Given the description of an element on the screen output the (x, y) to click on. 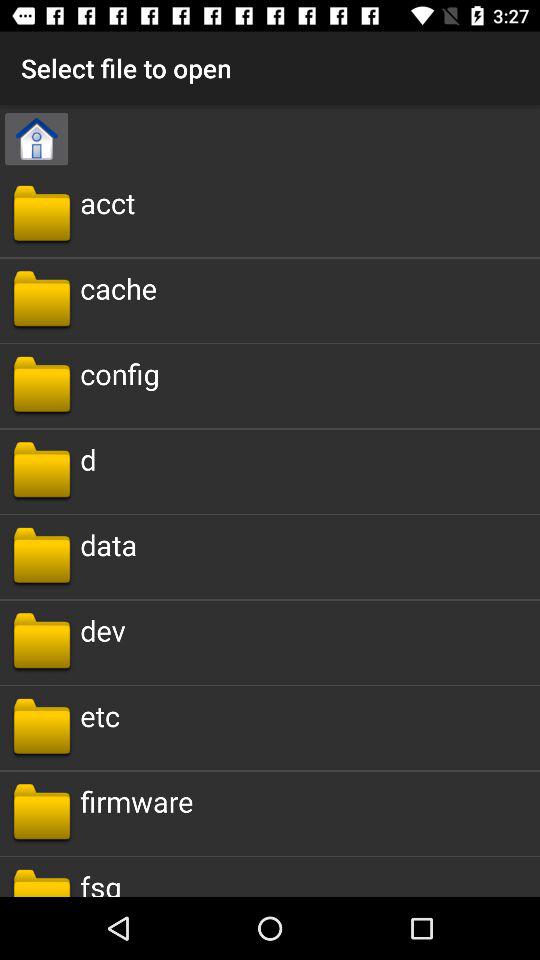
press item below cache item (119, 373)
